Given the description of an element on the screen output the (x, y) to click on. 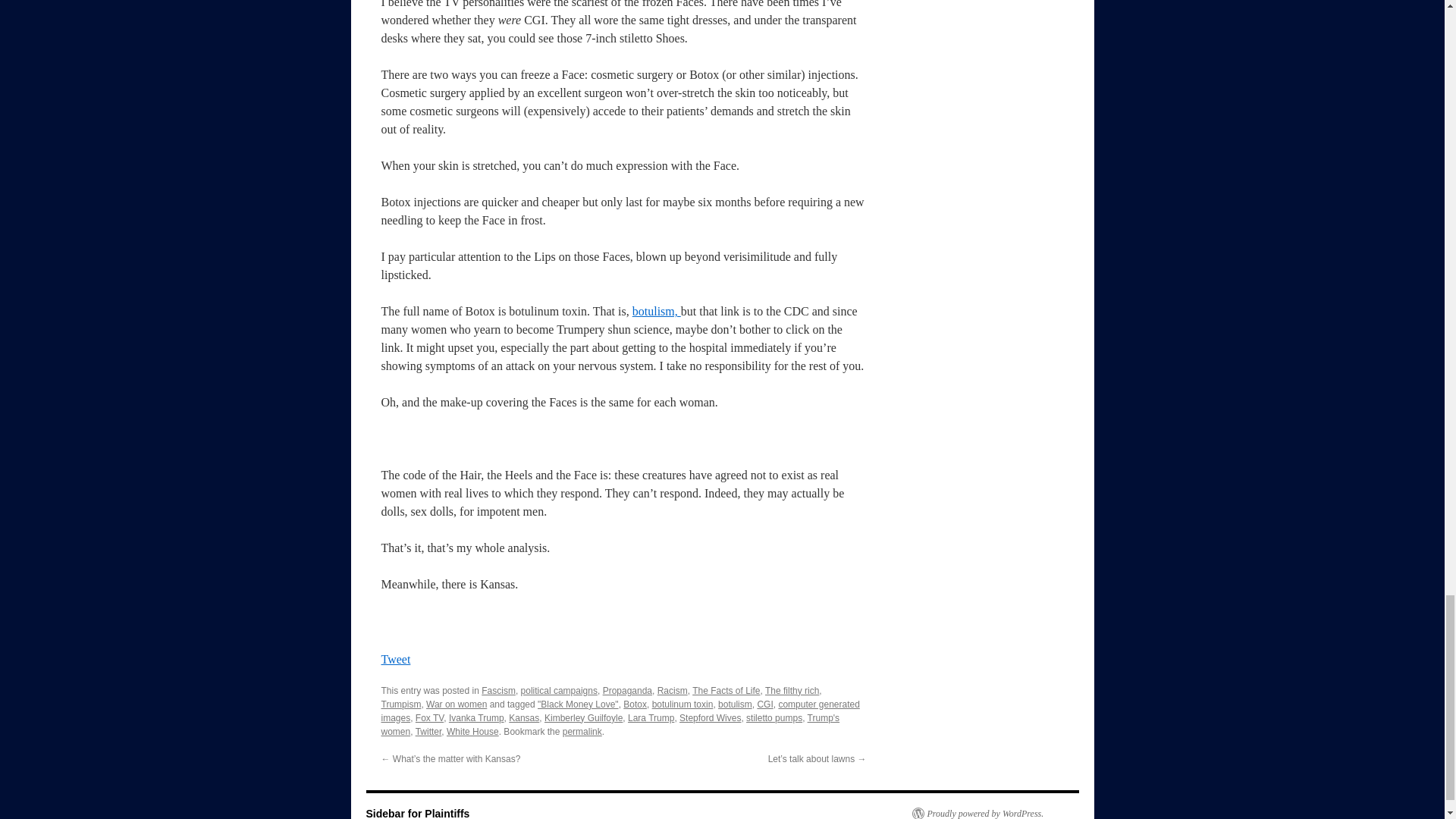
Racism (672, 690)
Twitter (428, 731)
The Facts of Life (726, 690)
Propaganda (627, 690)
Botox (634, 704)
computer generated images (619, 711)
Trump's women (610, 724)
Tweet (395, 658)
Fascism (498, 690)
political campaigns (558, 690)
botulism, (656, 310)
botulism (734, 704)
War on women (456, 704)
Stepford Wives (710, 717)
